Given the description of an element on the screen output the (x, y) to click on. 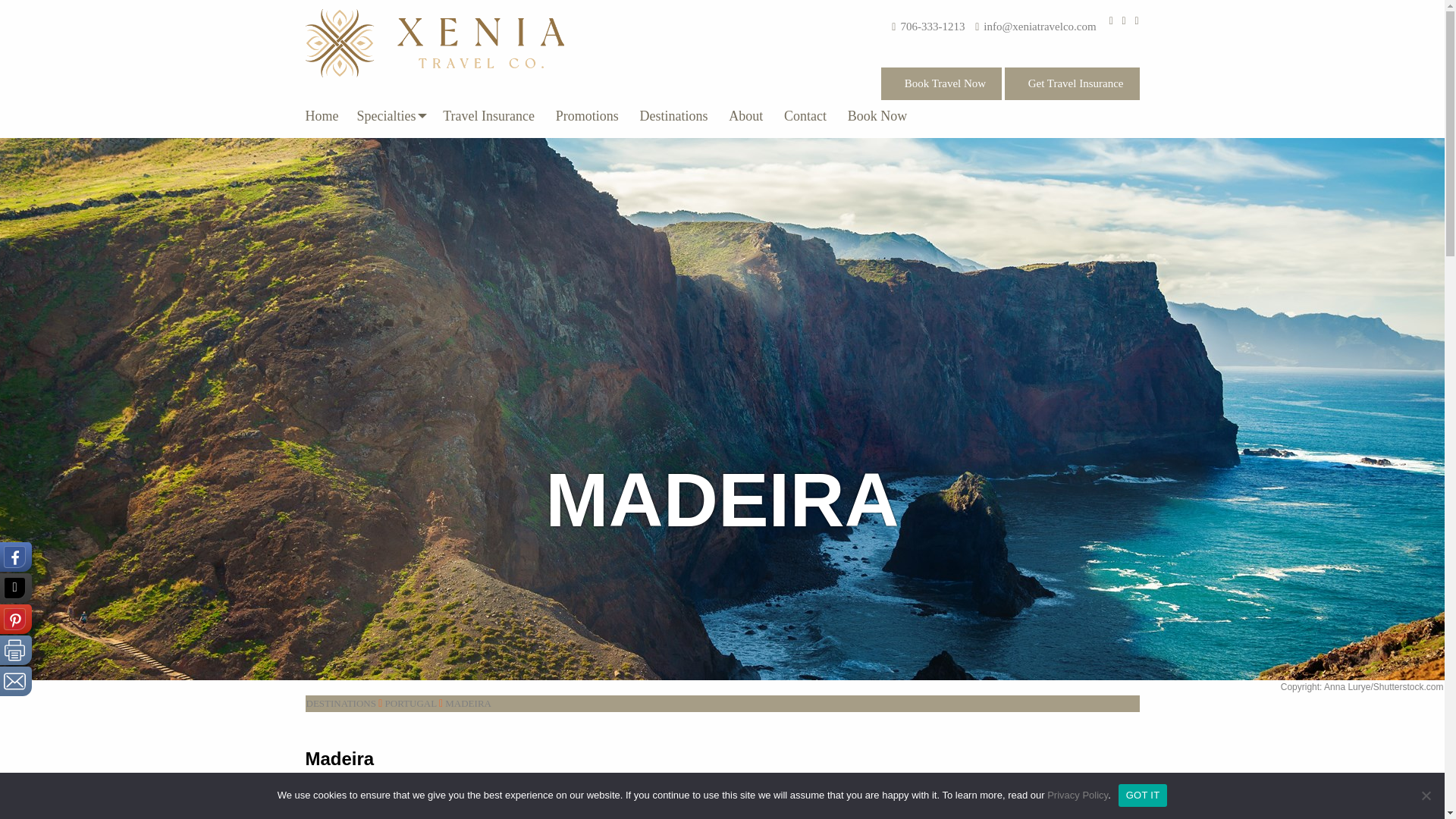
Get Travel Insurance (1072, 83)
Destinations (673, 115)
Book Now (877, 115)
DESTINATIONS (340, 703)
Home (325, 115)
About (745, 115)
No (1425, 795)
Contact (804, 115)
Xenia Travel Co. (433, 42)
Book Travel Now (940, 83)
Travel Insurance (488, 115)
Specialties (388, 115)
Promotions (587, 115)
706-333-1213 (931, 26)
